Given the description of an element on the screen output the (x, y) to click on. 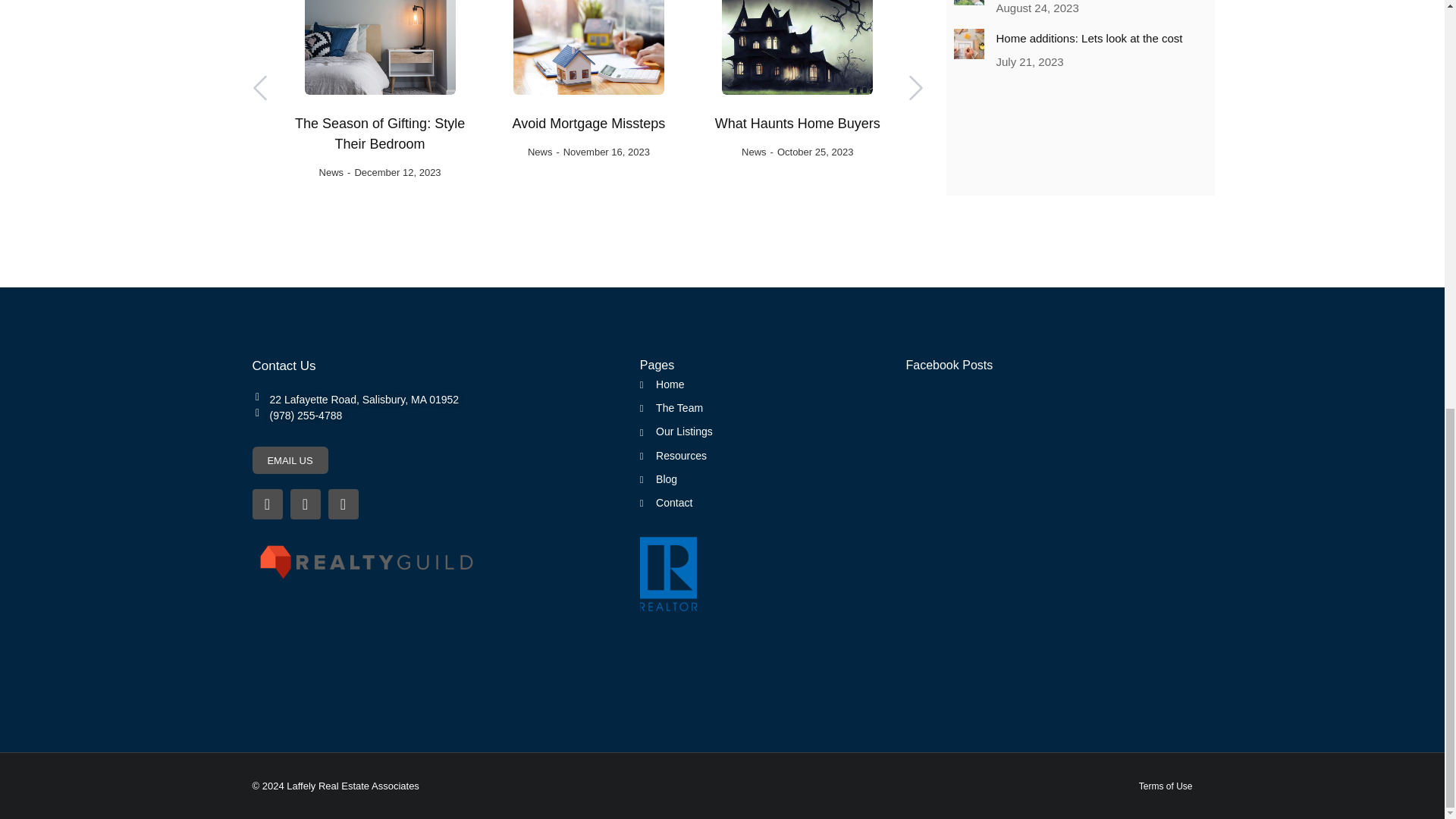
Avoid Mortgage Missteps (588, 123)
News (330, 172)
The Season of Gifting: Style Their Bedroom (379, 133)
Avoid Mortgage Missteps (588, 123)
The Season of Gifting: Style Their Bedroom (379, 133)
News (540, 151)
What Haunts Home Buyers (797, 123)
